Given the description of an element on the screen output the (x, y) to click on. 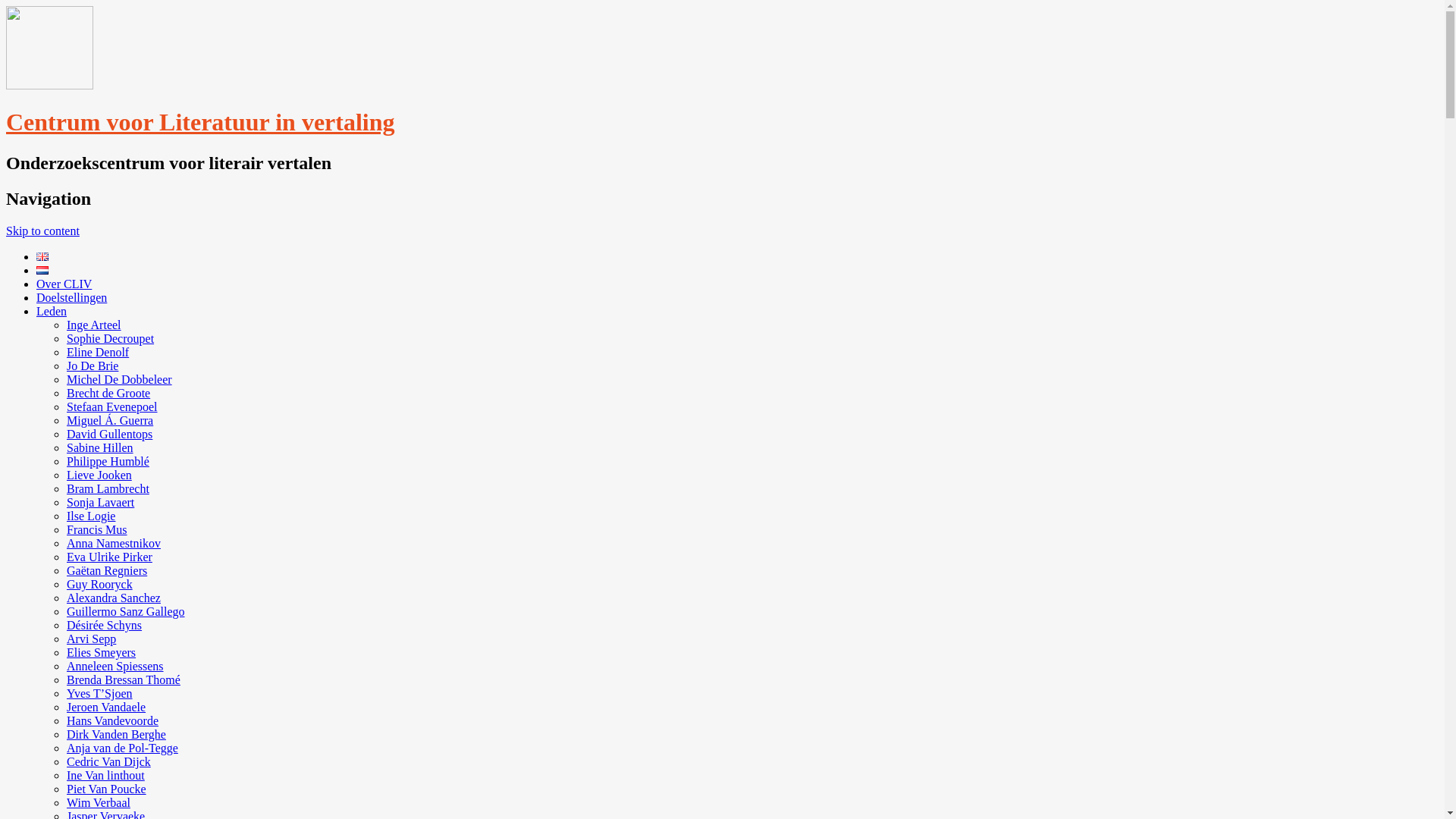
Eva Ulrike Pirker Element type: text (109, 556)
Michel De Dobbeleer Element type: text (119, 379)
Brecht de Groote Element type: text (108, 392)
Bram Lambrecht Element type: text (107, 488)
Arvi Sepp Element type: text (91, 638)
Elies Smeyers Element type: text (100, 652)
Francis Mus Element type: text (96, 529)
Cedric Van Dijck Element type: text (108, 761)
David Gullentops Element type: text (109, 433)
Over CLIV Element type: text (63, 283)
Guillermo Sanz Gallego Element type: text (125, 611)
Lieve Jooken Element type: text (98, 474)
Stefaan Evenepoel Element type: text (111, 406)
Skip to content Element type: text (42, 230)
Nederlands Element type: hover (42, 270)
Sophie Decroupet Element type: text (109, 338)
Centrum voor Literatuur in vertaling Element type: hover (49, 84)
Doelstellingen Element type: text (71, 297)
Dirk Vanden Berghe Element type: text (116, 734)
Sonja Lavaert Element type: text (100, 501)
Anneleen Spiessens Element type: text (114, 665)
Alexandra Sanchez Element type: text (113, 597)
Eline Denolf Element type: text (97, 351)
Jo De Brie Element type: text (92, 365)
Ilse Logie Element type: text (90, 515)
Guy Rooryck Element type: text (99, 583)
Anja van de Pol-Tegge Element type: text (122, 747)
Hans Vandevoorde Element type: text (112, 720)
Anna Namestnikov Element type: text (113, 542)
Jeroen Vandaele Element type: text (105, 706)
Centrum voor Literatuur in vertaling Element type: text (200, 121)
Piet Van Poucke Element type: text (106, 788)
Wim Verbaal Element type: text (98, 802)
Sabine Hillen Element type: text (99, 447)
English Element type: hover (42, 256)
Ine Van linthout Element type: text (105, 774)
Leden Element type: text (51, 310)
Inge Arteel Element type: text (93, 324)
